Given the description of an element on the screen output the (x, y) to click on. 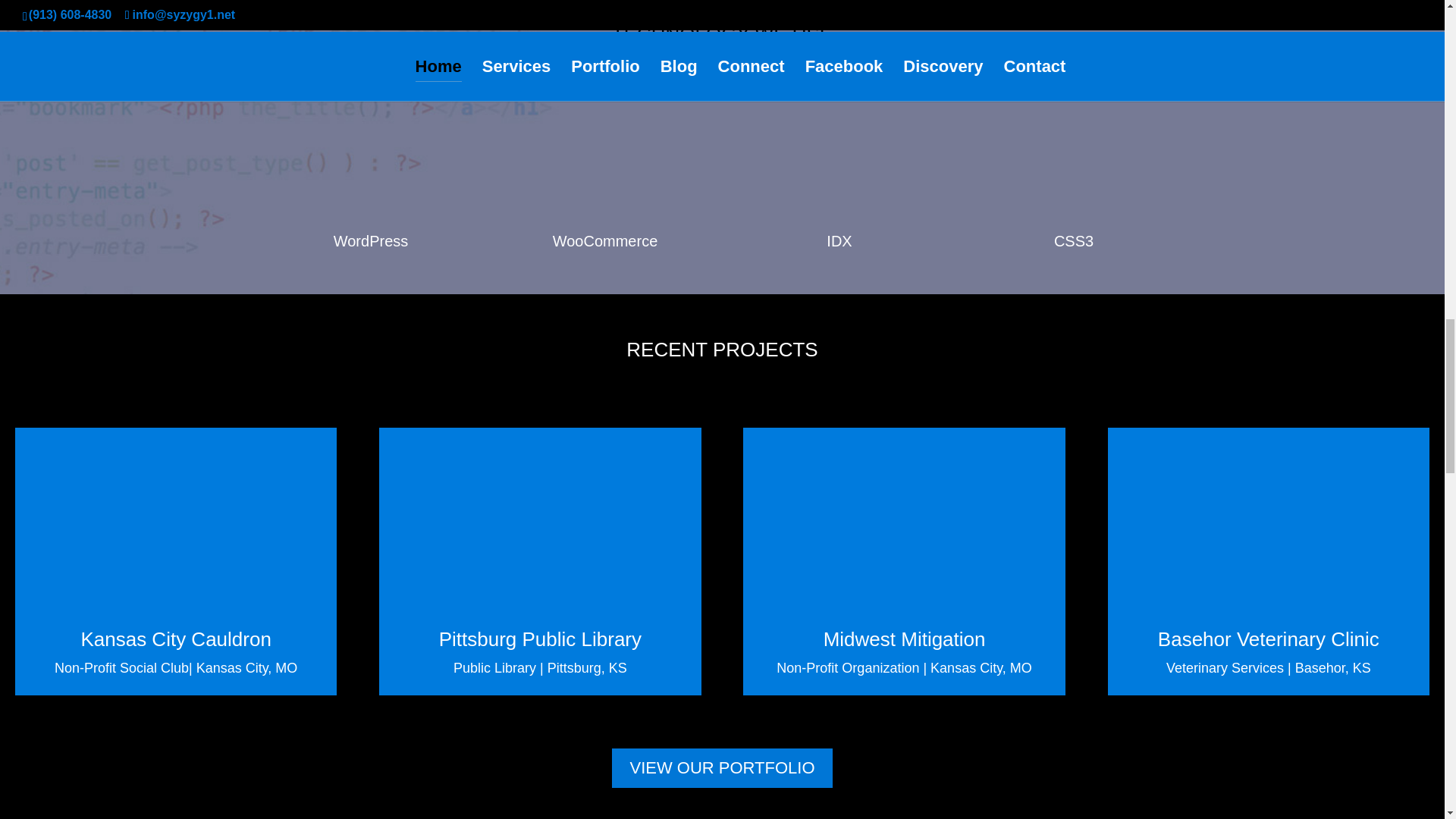
VIEW OUR PORTFOLIO (721, 768)
